Given the description of an element on the screen output the (x, y) to click on. 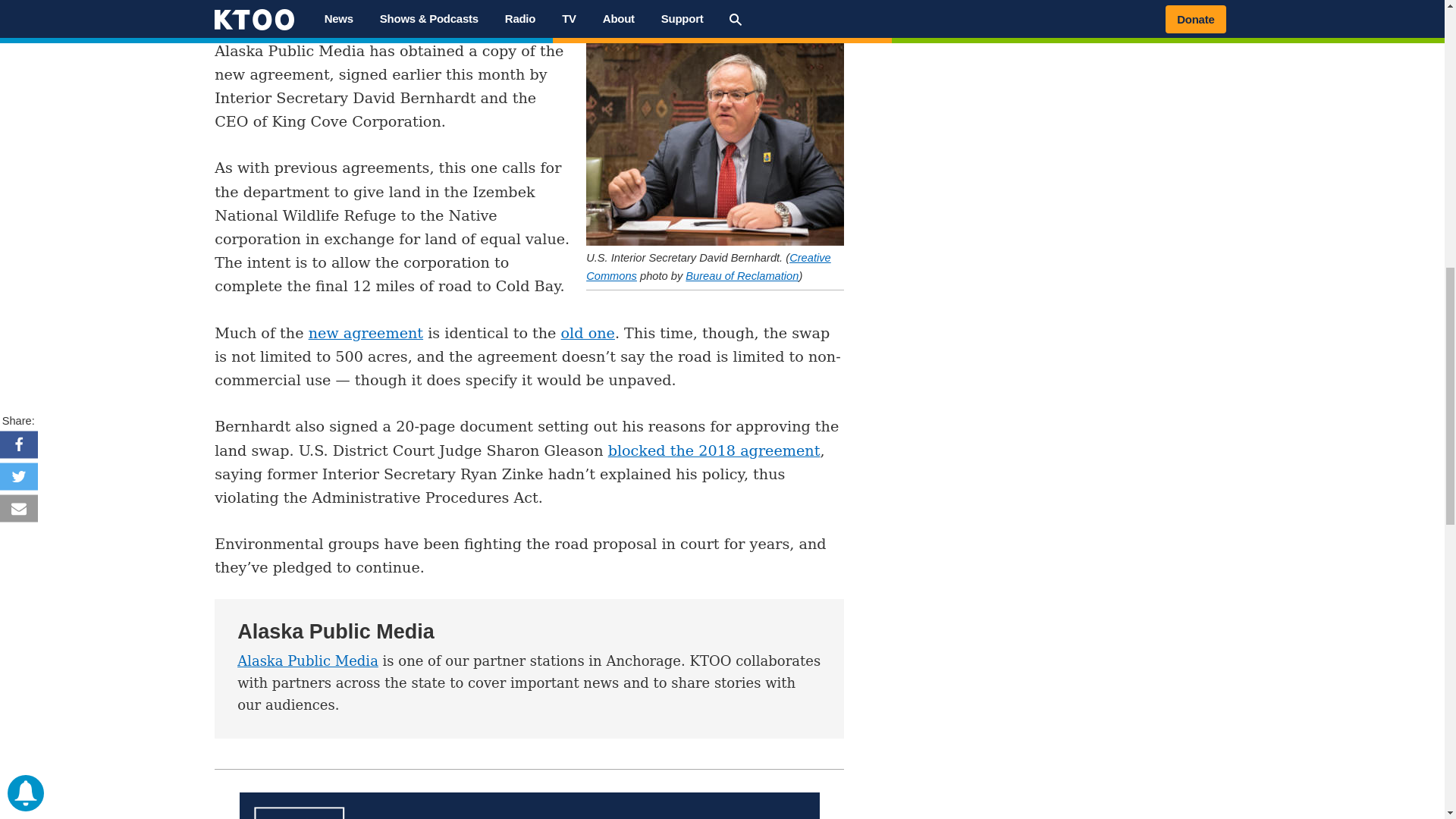
Fall 2023 Member Drive Bottom of News Story Graphics V.1 (529, 805)
